Given the description of an element on the screen output the (x, y) to click on. 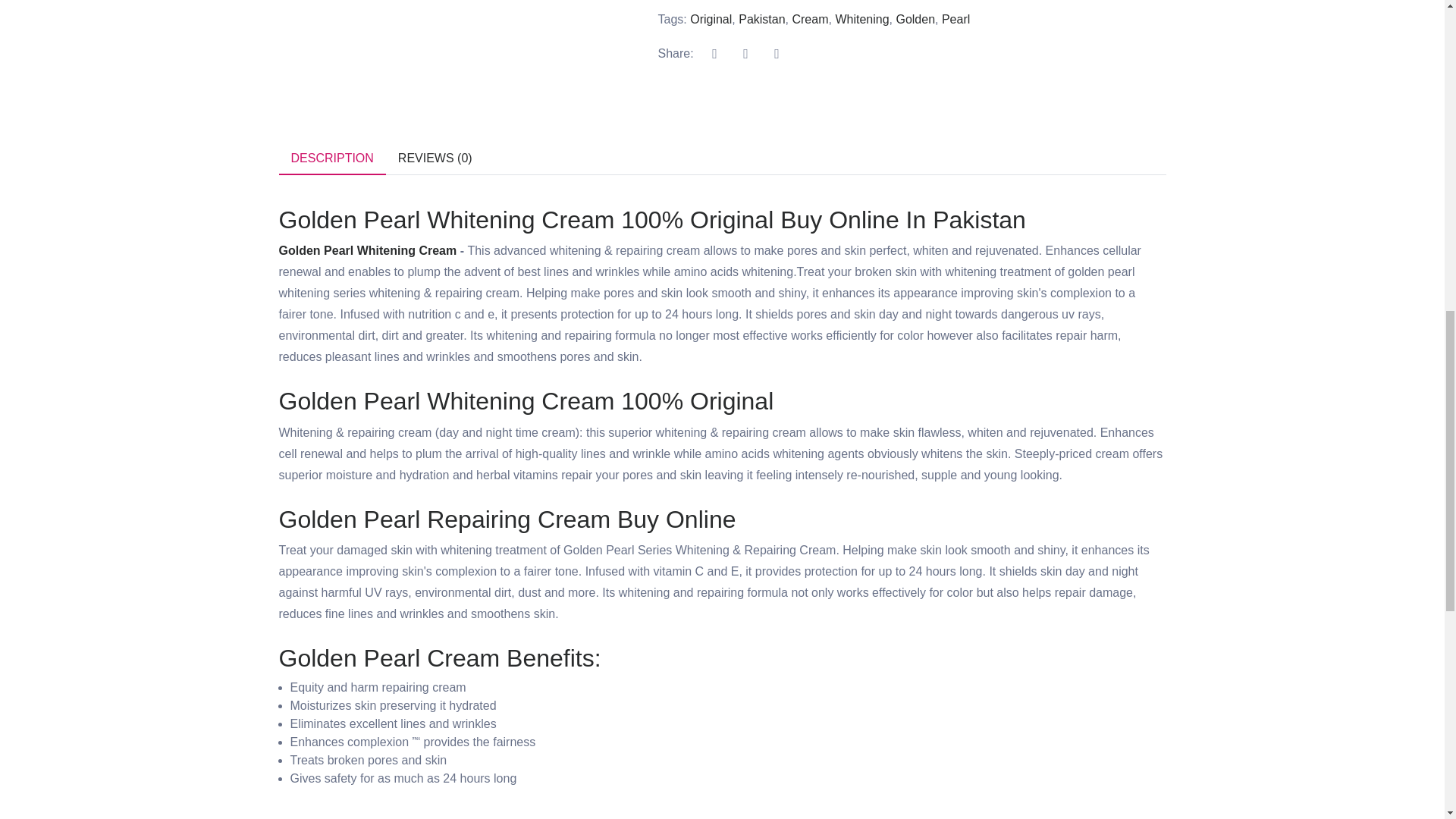
Share on Facebook (715, 53)
Share on Twitter (746, 53)
Share onLinkedin (776, 53)
